Given the description of an element on the screen output the (x, y) to click on. 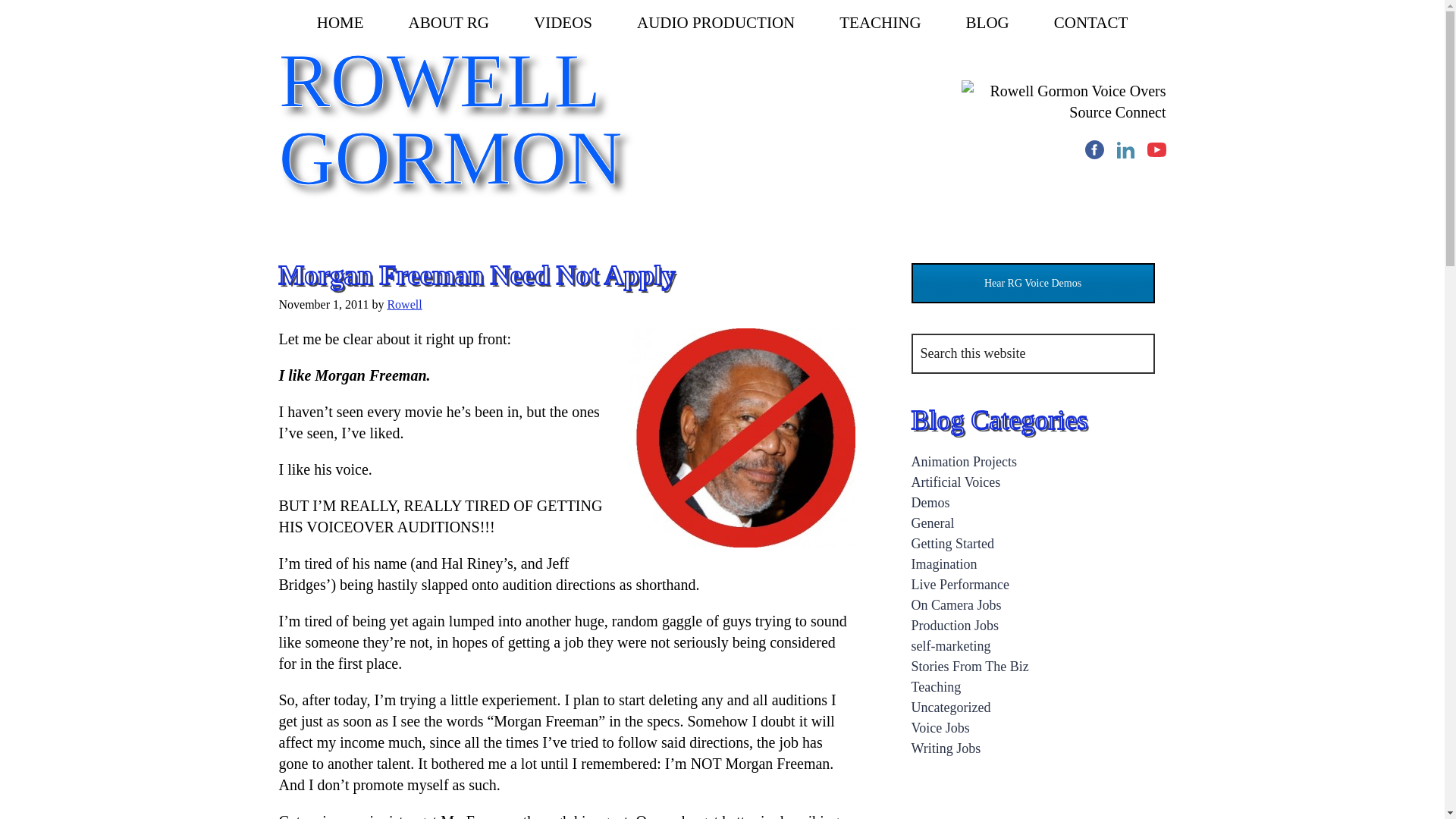
Hear RG Voice Demos (1032, 282)
Animation Projects (963, 461)
Imagination (943, 563)
Linkedin (1125, 149)
Live Performance (960, 584)
VIDEOS (563, 23)
AUDIO PRODUCTION (715, 23)
ABOUT RG (449, 23)
Youtube (1156, 149)
General (933, 522)
